Given the description of an element on the screen output the (x, y) to click on. 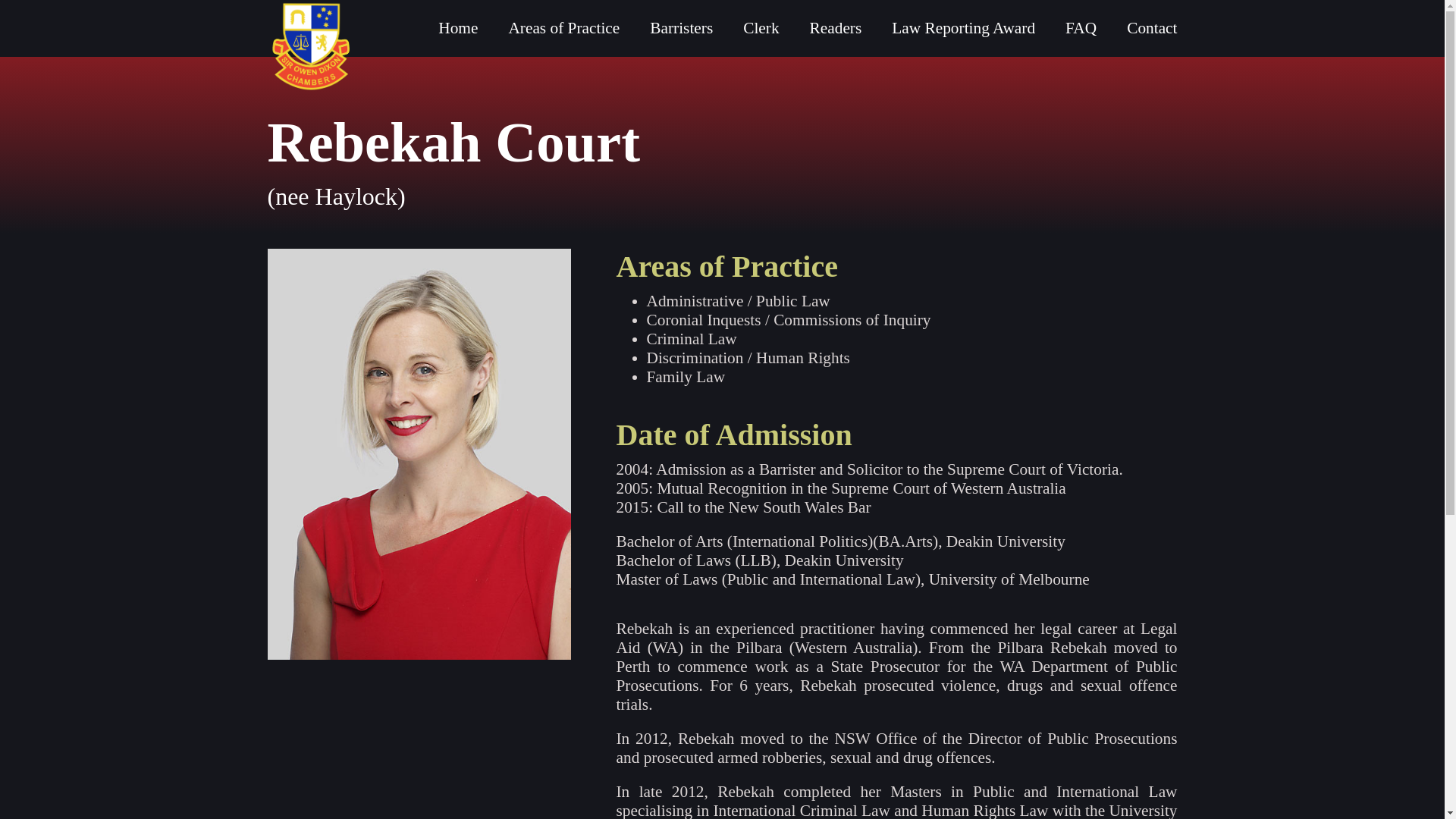
Readers (835, 28)
Law Reporting Award (963, 28)
Sir Owen Dixon Chambers (309, 46)
Barristers (681, 28)
Areas of Practice (564, 28)
